Given the description of an element on the screen output the (x, y) to click on. 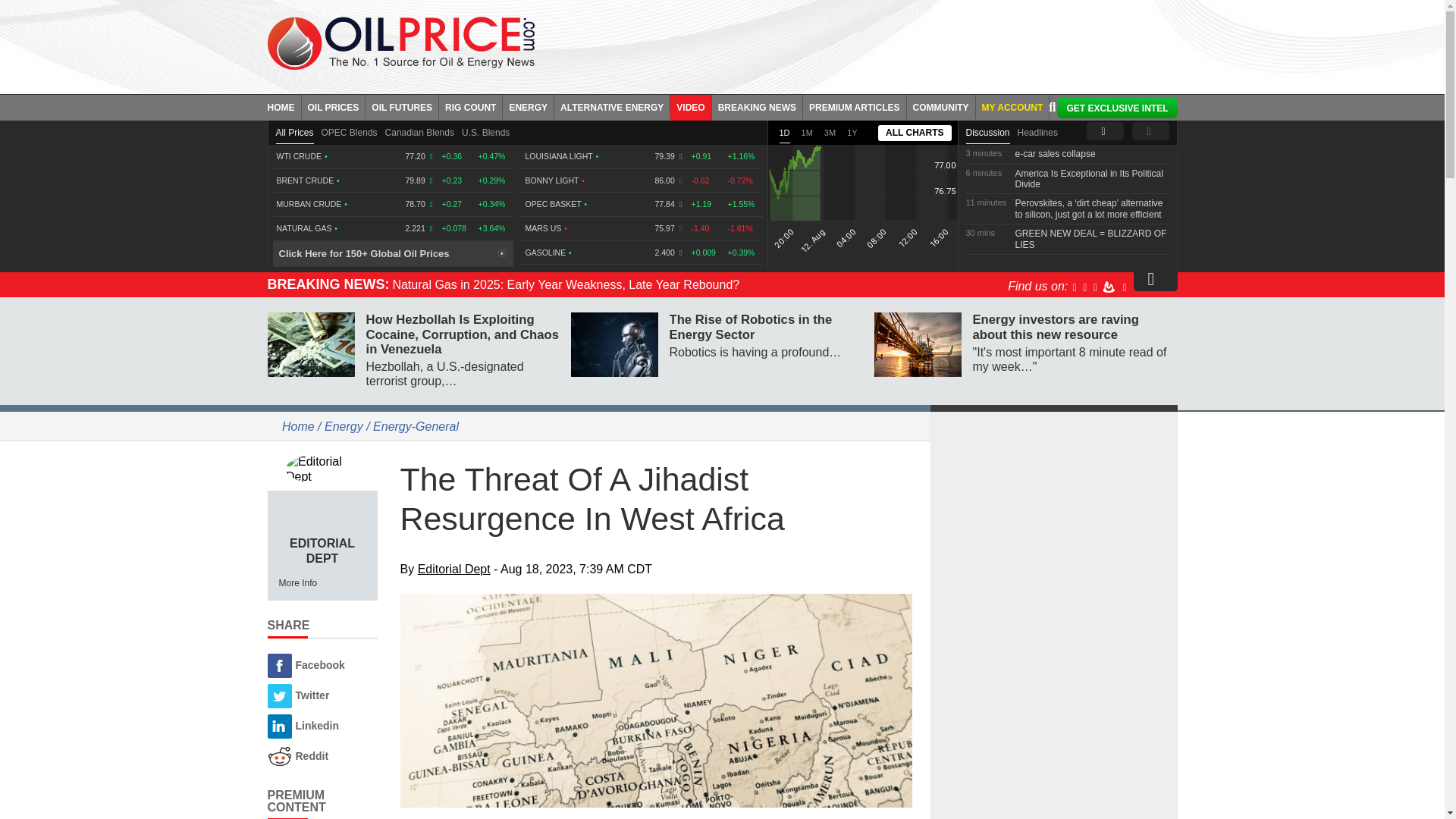
West Africa (656, 700)
OIL FUTURES (402, 106)
ENERGY (528, 106)
HOME (283, 106)
RIG COUNT (470, 106)
ALTERNATIVE ENERGY (611, 106)
COMMUNITY (941, 106)
Editorial Dept (321, 468)
MY ACCOUNT (1012, 106)
